Given the description of an element on the screen output the (x, y) to click on. 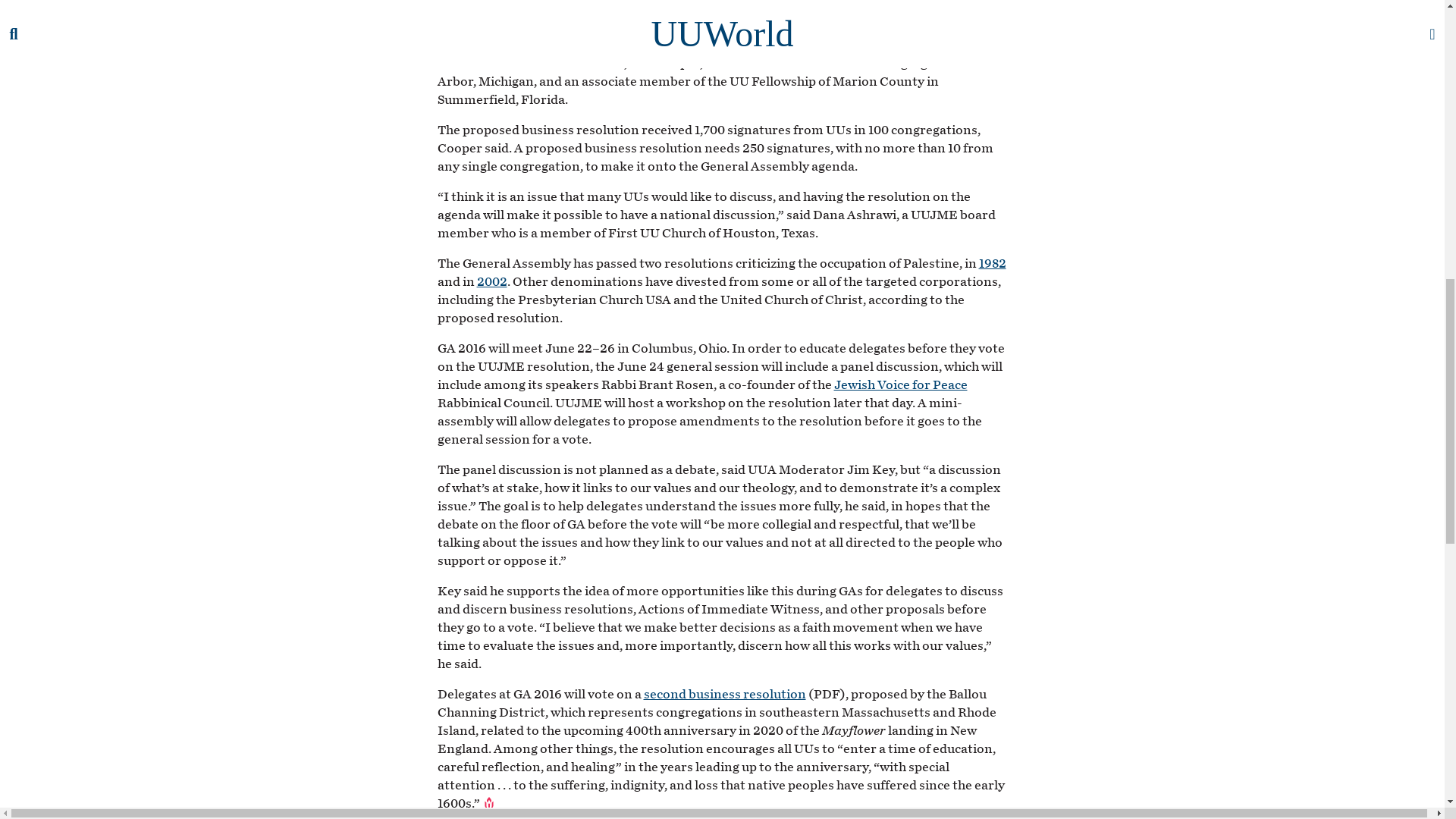
2002 (491, 281)
1982 (992, 263)
second business resolution (724, 694)
Jewish Voice for Peace (901, 384)
